Given the description of an element on the screen output the (x, y) to click on. 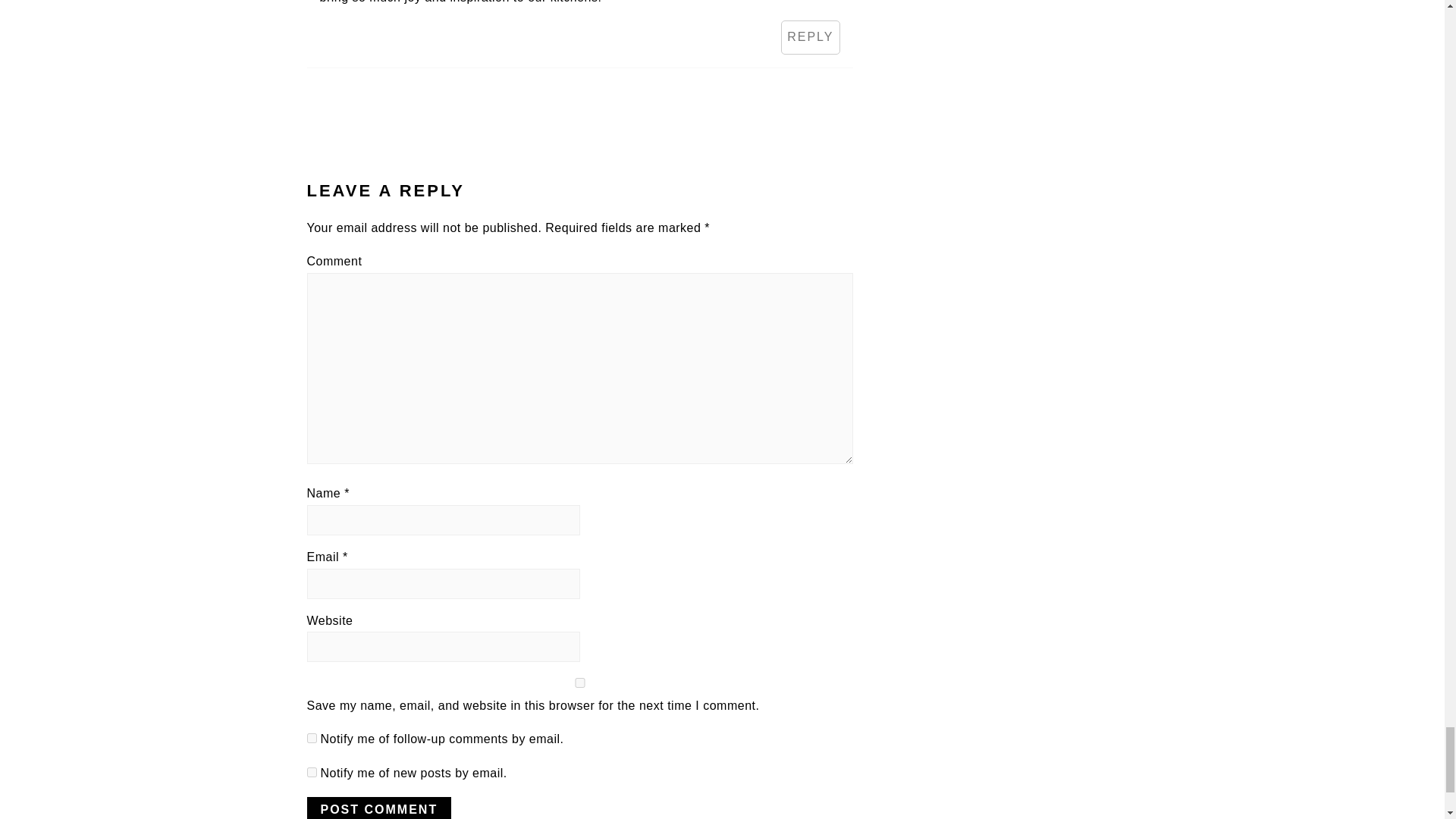
Post Comment (378, 807)
subscribe (310, 772)
subscribe (310, 737)
yes (578, 682)
